Given the description of an element on the screen output the (x, y) to click on. 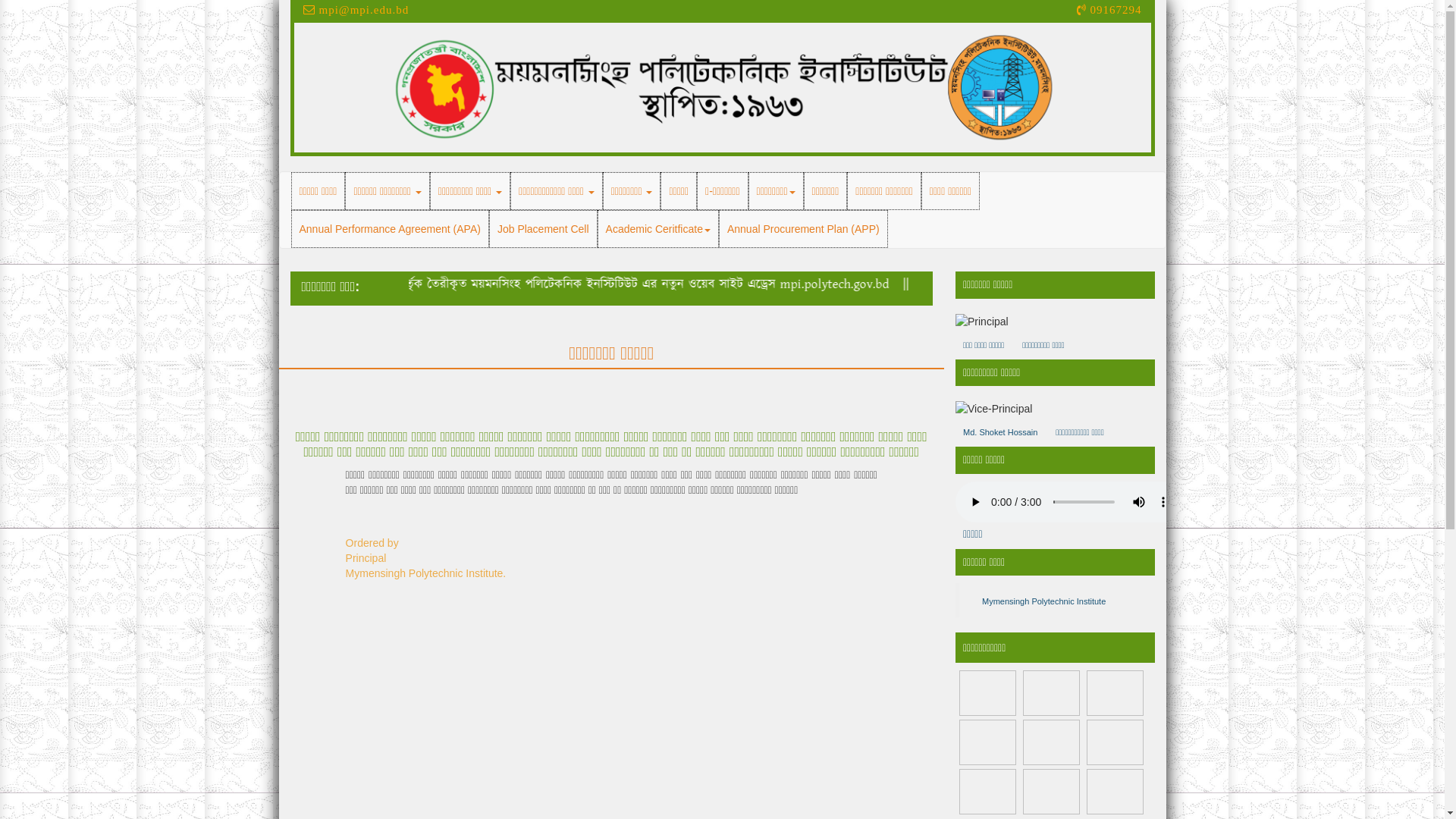
Md. Shoket Hossain Element type: text (999, 432)
Mymensingh Polytechnic Institute Element type: text (1043, 601)
Annual Procurement Plan (APP) Element type: text (803, 228)
Md. Shoket Hossain Element type: hover (993, 408)
Academic Ceritficate Element type: text (658, 228)
Job Placement Cell Element type: text (542, 228)
Md. Showkat Hossain Element type: hover (981, 321)
Annual Performance Agreement (APA) Element type: text (389, 228)
